Given the description of an element on the screen output the (x, y) to click on. 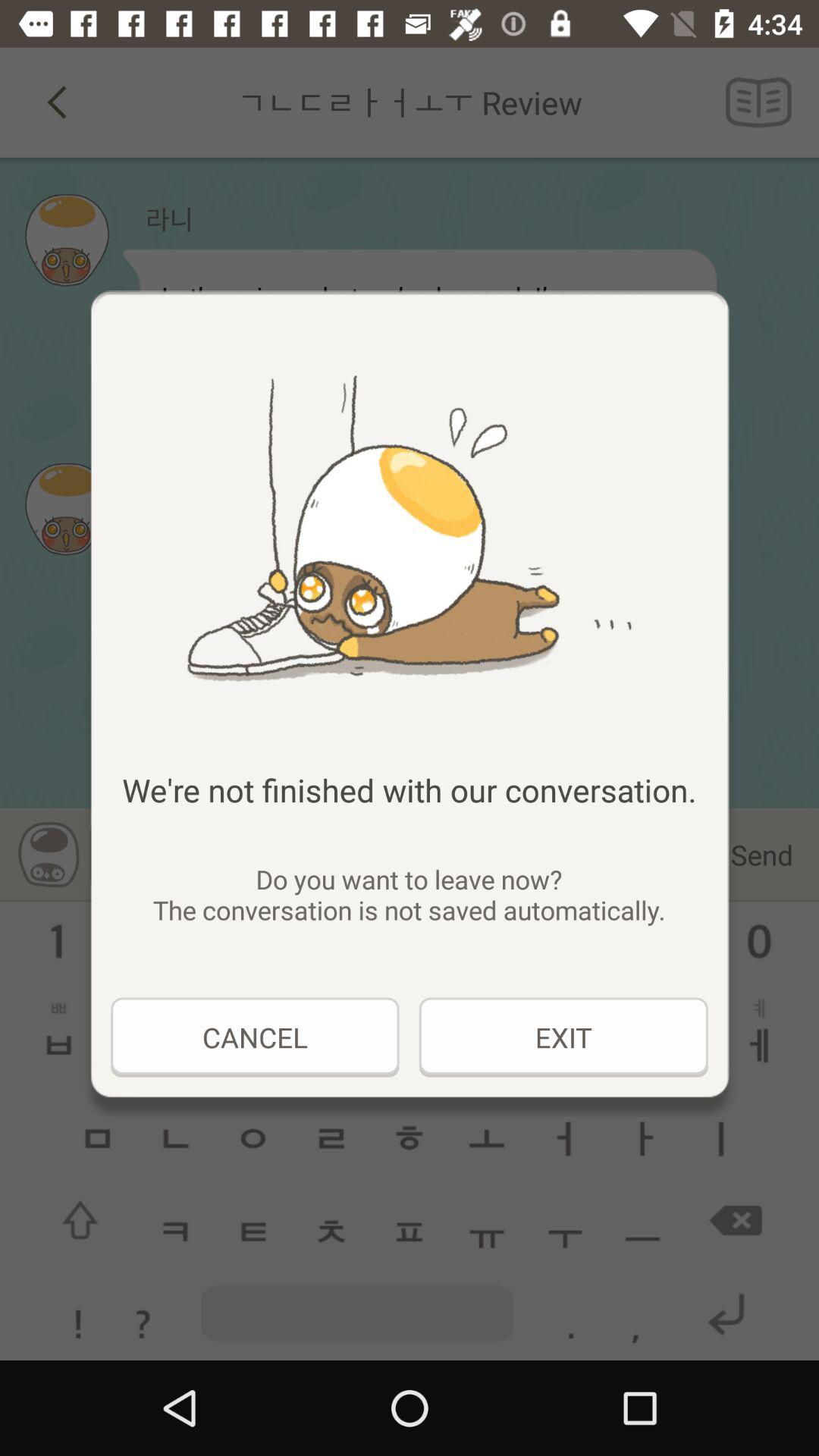
click the exit at the bottom right corner (563, 1037)
